Given the description of an element on the screen output the (x, y) to click on. 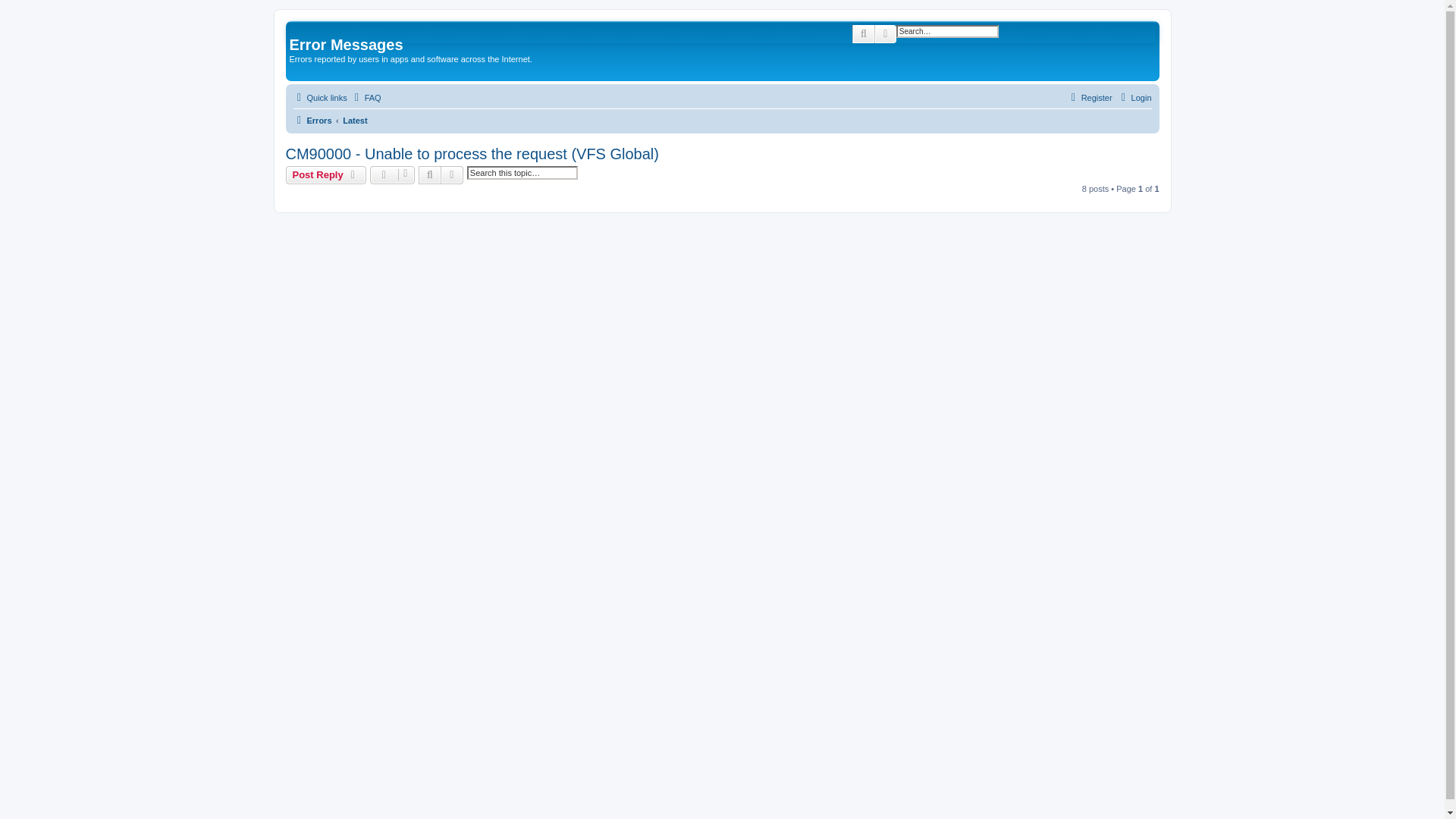
Advanced search (452, 175)
FAQ (365, 97)
Errors (311, 120)
Search (863, 34)
Post Reply (325, 175)
Post a reply (325, 175)
Login (1134, 97)
Search (430, 175)
Register (1089, 97)
Topic tools (391, 175)
